Given the description of an element on the screen output the (x, y) to click on. 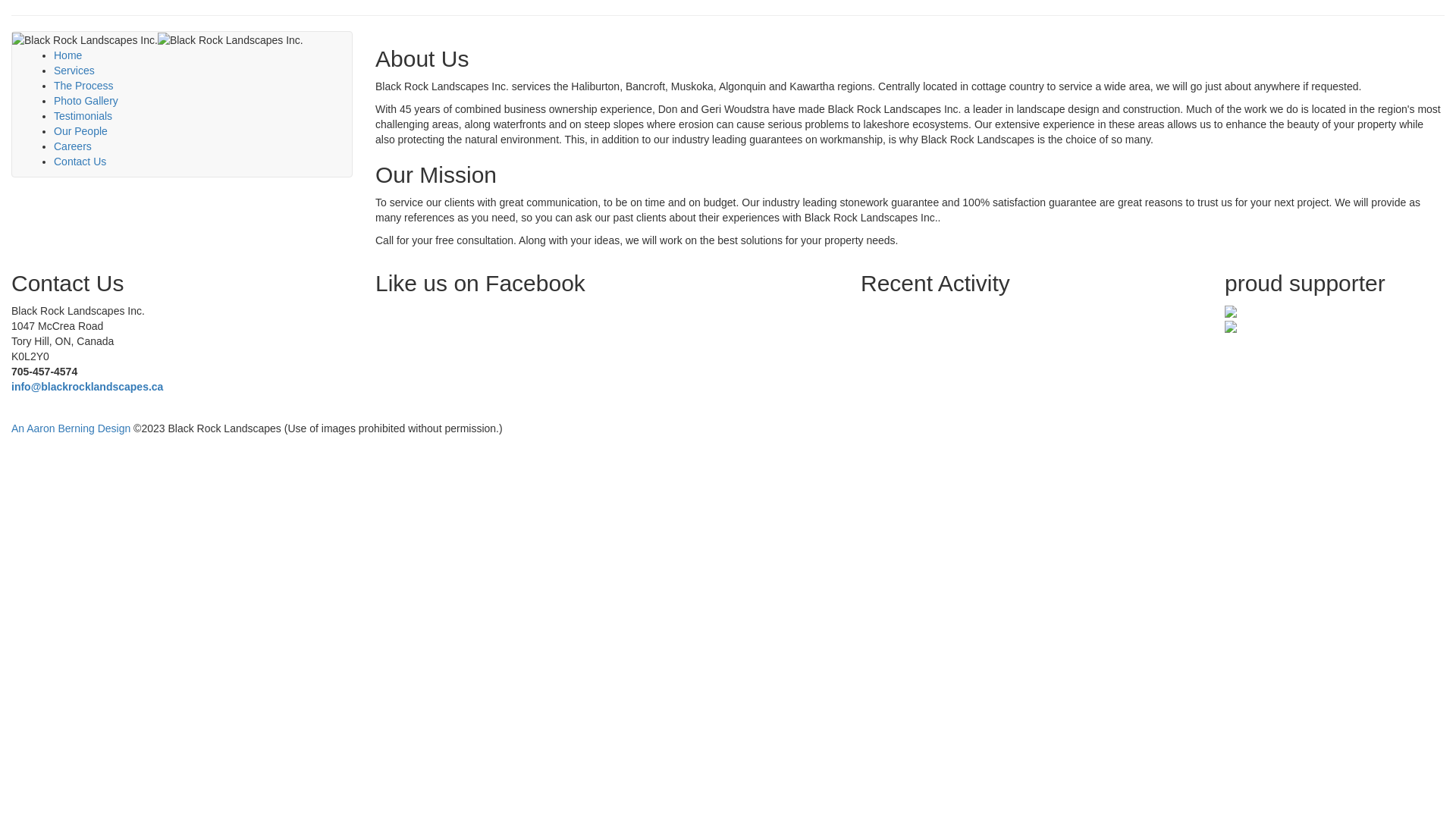
Pregnancy Care & Family Support Centre Element type: hover (1230, 326)
Services Element type: text (73, 70)
Our People Element type: text (80, 131)
The Process Element type: text (83, 85)
info@blackrocklandscapes.ca Element type: text (87, 386)
Home Element type: text (67, 55)
Katie's Run Element type: hover (1230, 310)
Contact Us Element type: text (79, 161)
An Aaron Berning Design Element type: text (70, 428)
Testimonials Element type: text (82, 115)
Careers Element type: text (72, 146)
Photo Gallery Element type: text (85, 100)
